Given the description of an element on the screen output the (x, y) to click on. 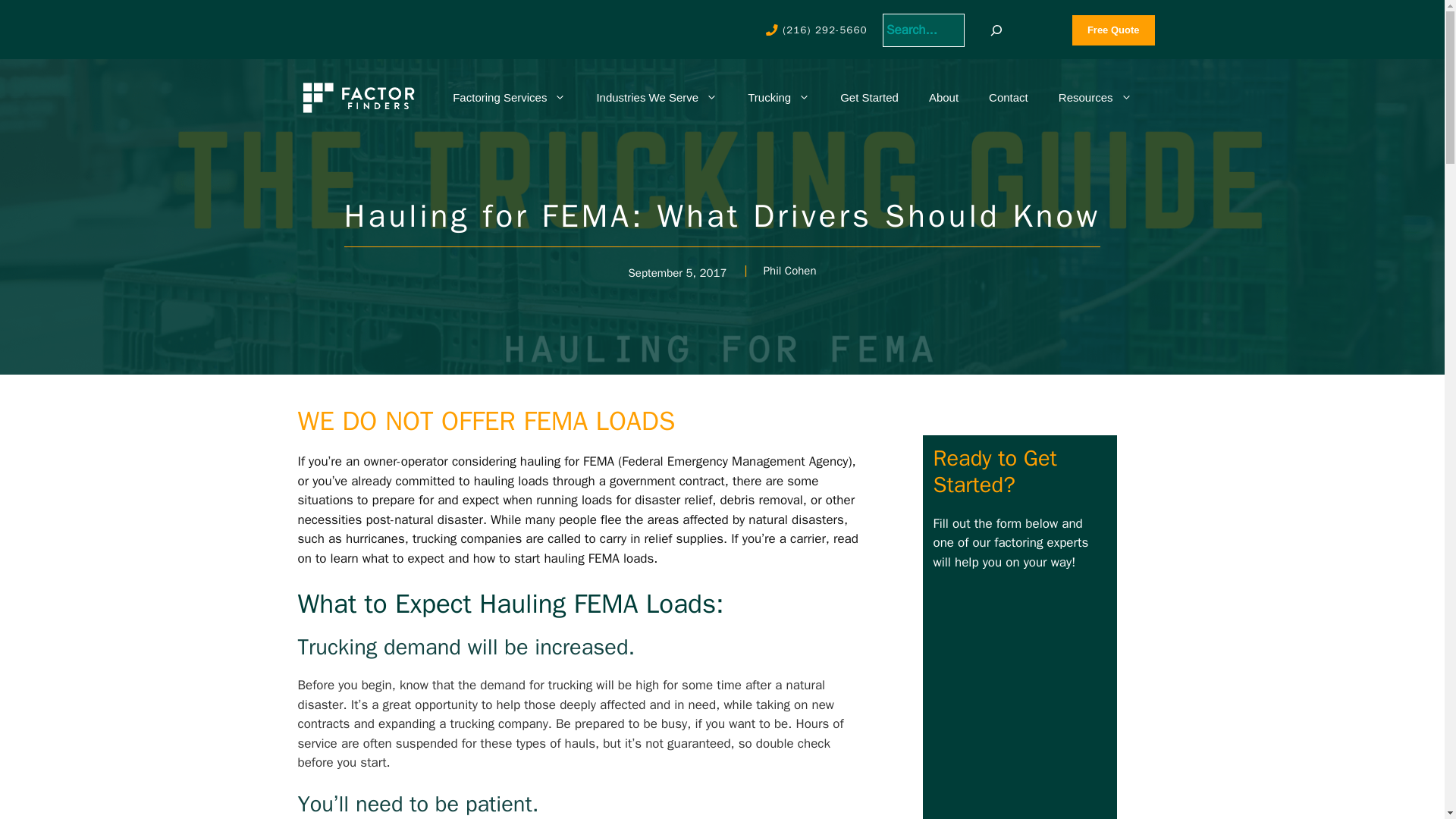
Trucking (778, 97)
About (944, 97)
Resources (1095, 97)
Factoring Services (509, 97)
Get Started (869, 97)
Form 0 (1053, 705)
Contact (1008, 97)
Free Quote (1112, 30)
Industries We Serve (656, 97)
